Given the description of an element on the screen output the (x, y) to click on. 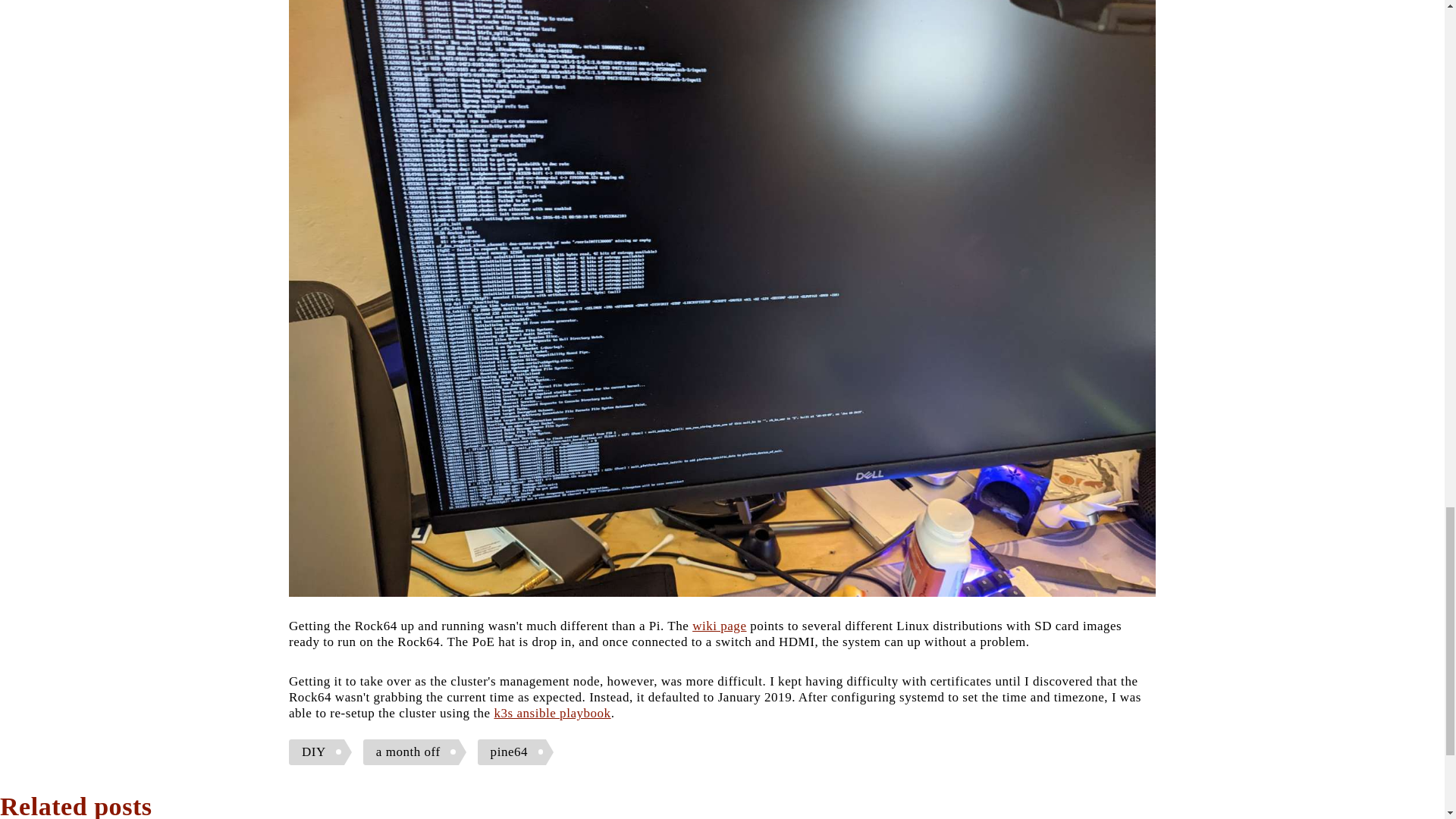
a month off (413, 751)
k3s ansible playbook (551, 712)
pine64 (515, 751)
wiki page (719, 626)
DIY (320, 751)
